Given the description of an element on the screen output the (x, y) to click on. 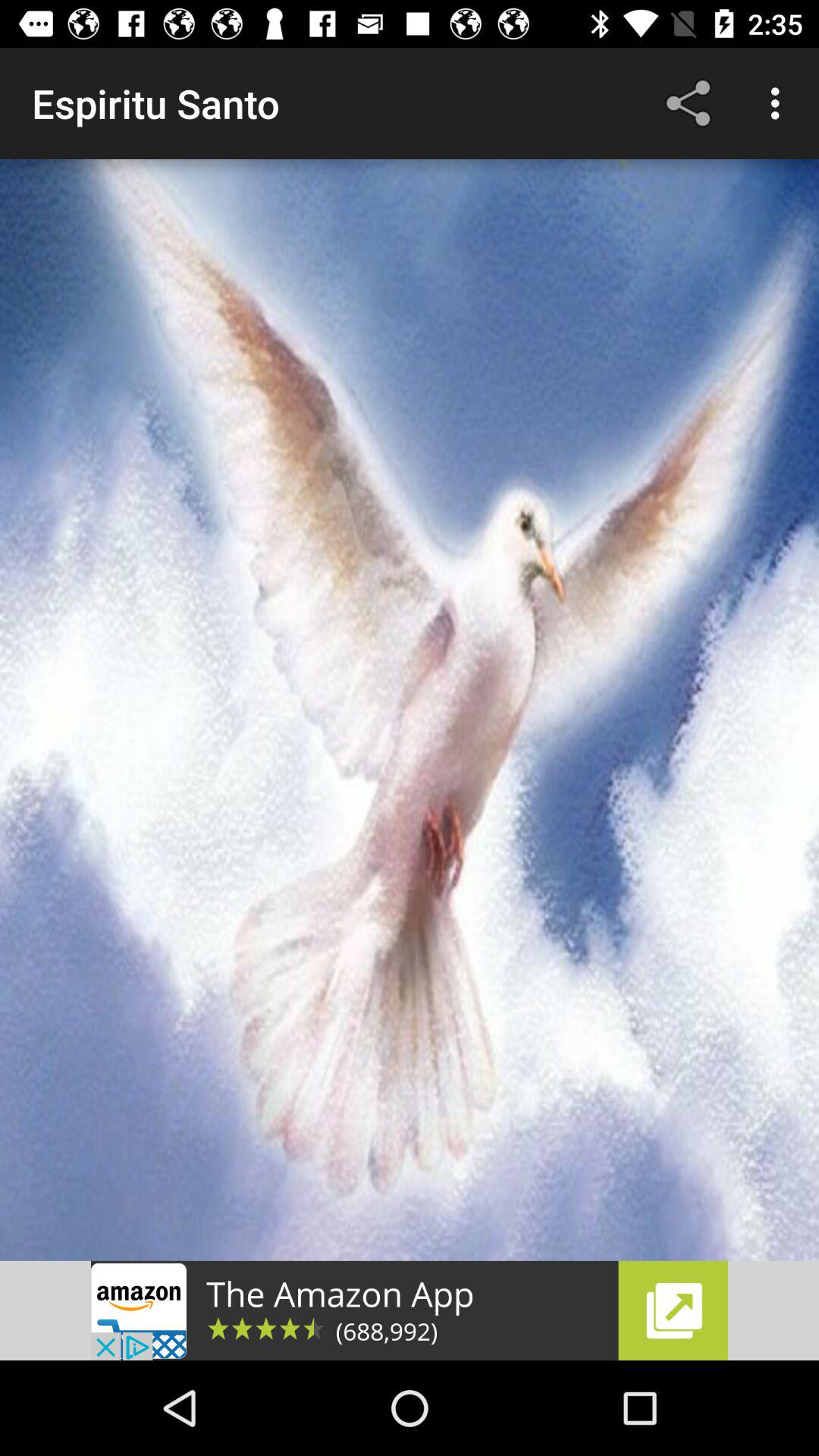
view advertisement (409, 1310)
